Given the description of an element on the screen output the (x, y) to click on. 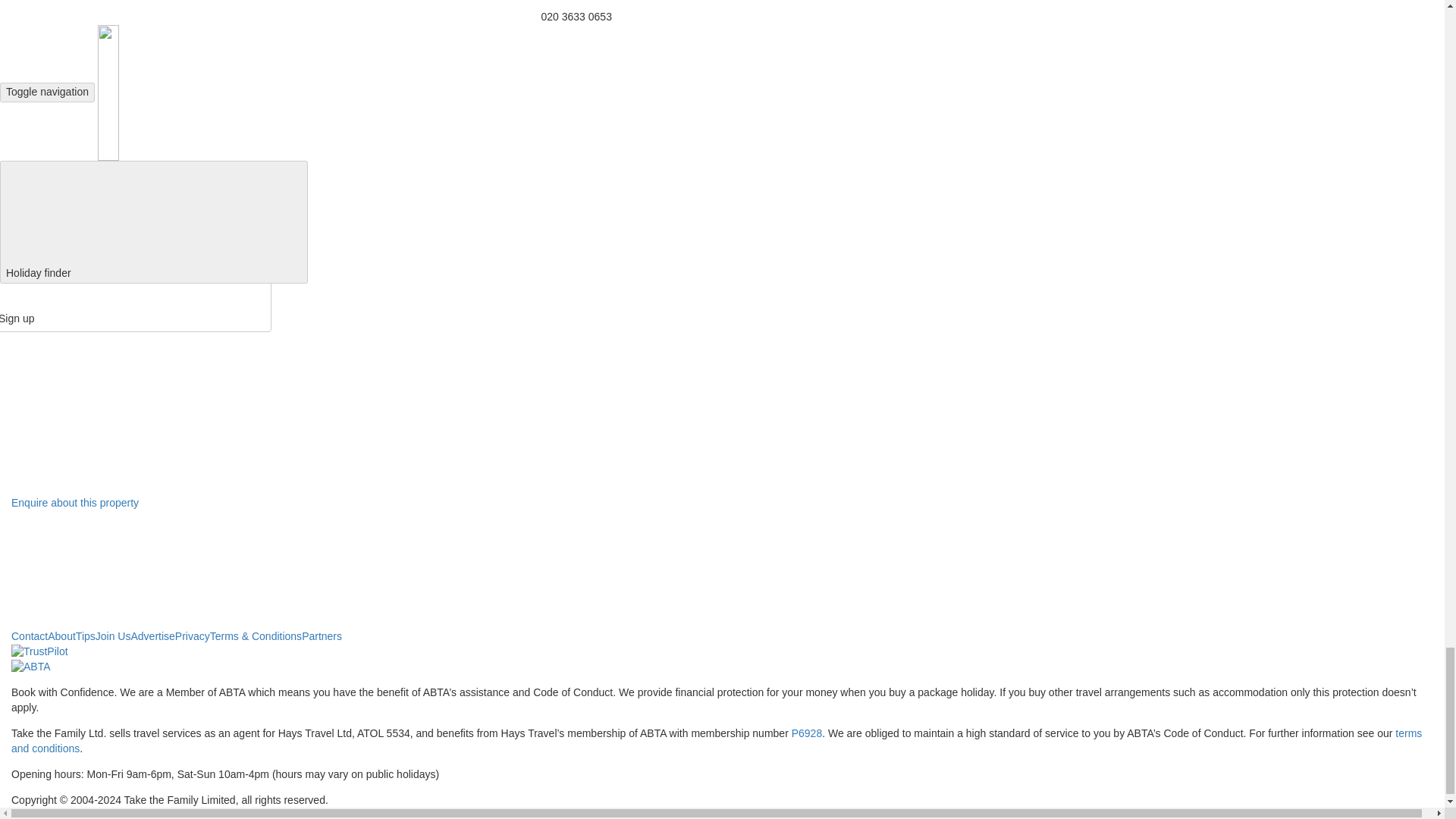
TrustPilot (39, 652)
